Given the description of an element on the screen output the (x, y) to click on. 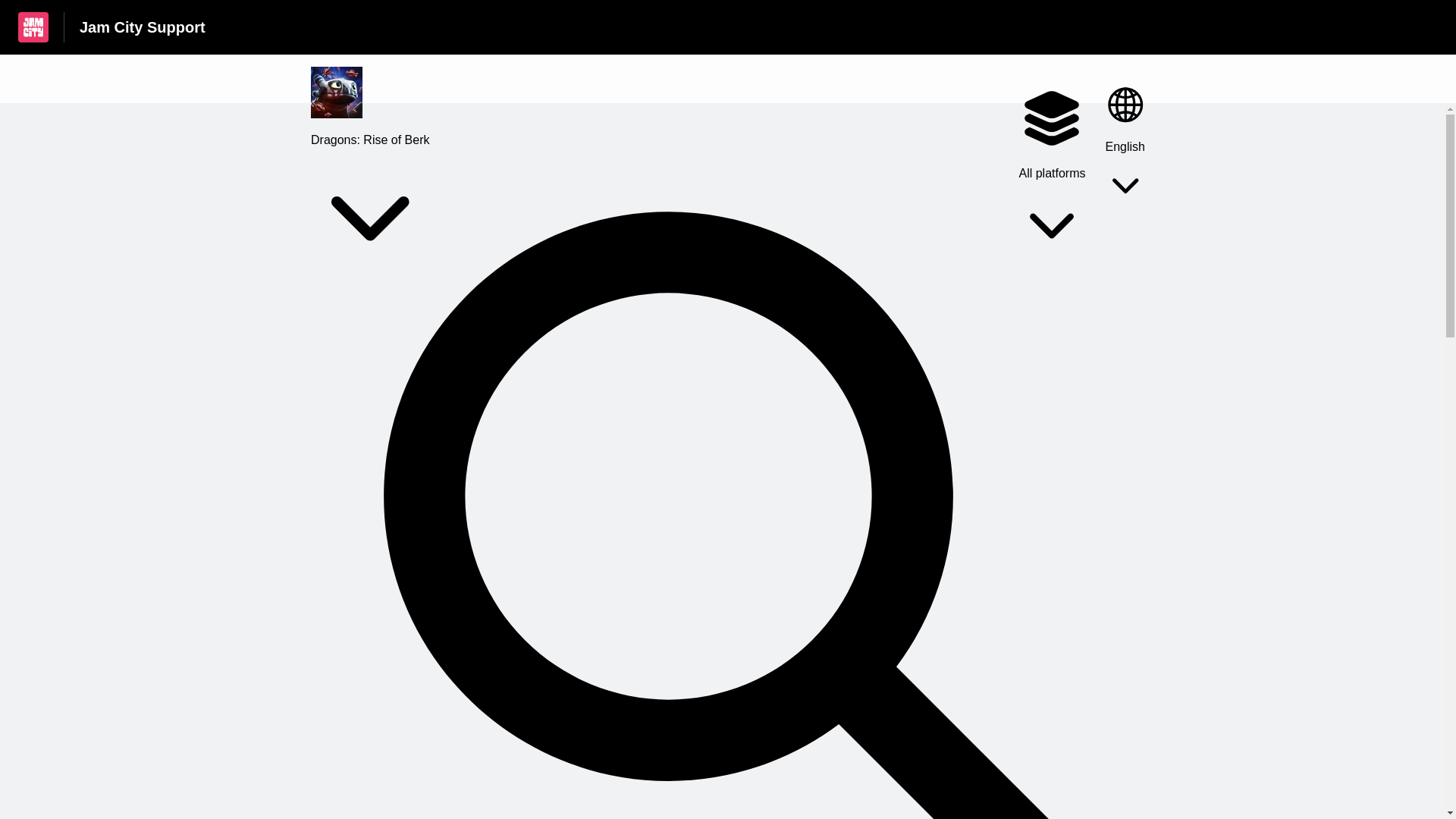
Jam City Support (142, 27)
